Given the description of an element on the screen output the (x, y) to click on. 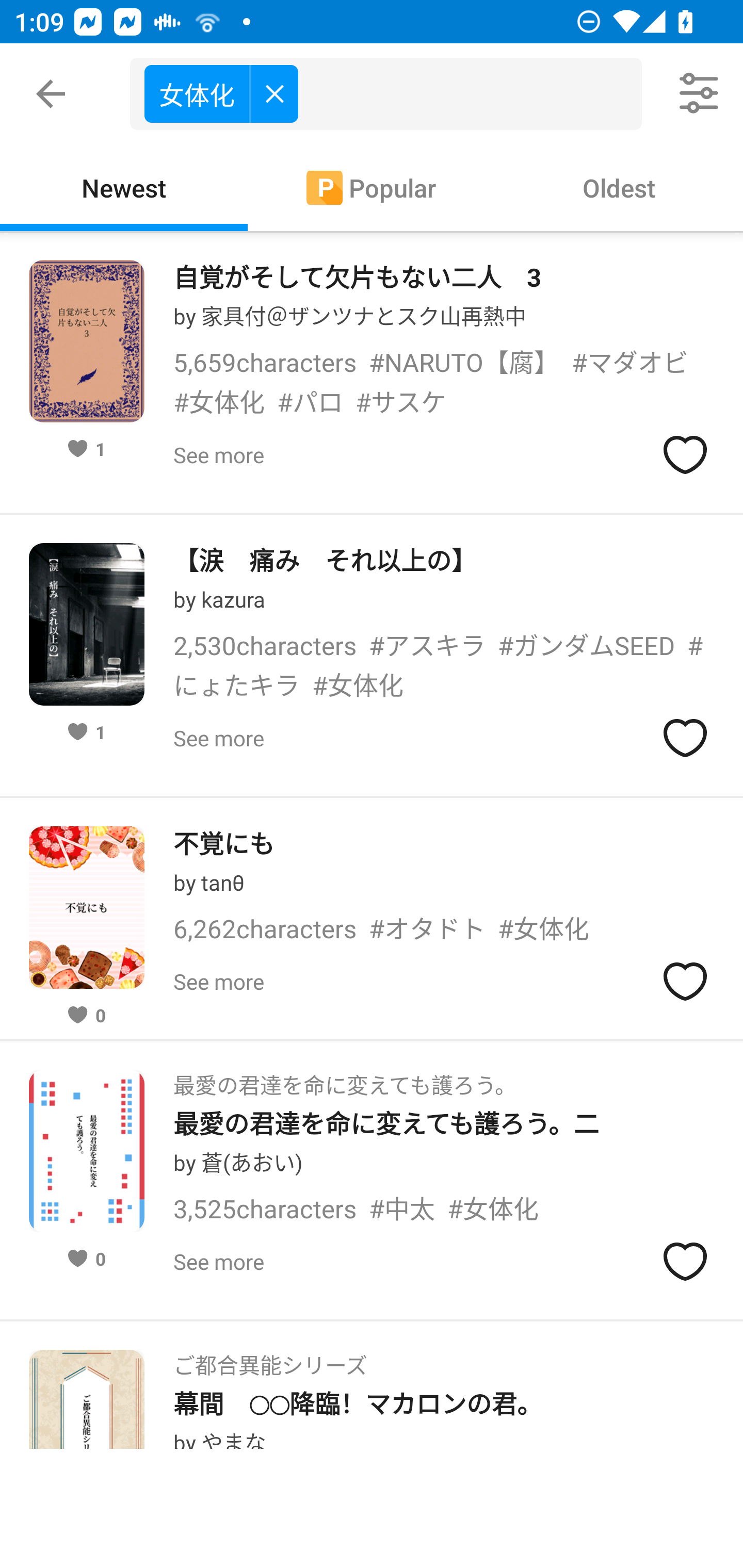
Navigate up (50, 93)
Filters (699, 93)
女体化 (392, 94)
女体化 (220, 93)
[P] Popular (371, 187)
Oldest (619, 187)
最愛の君達を命に変えても護ろう。 (345, 1079)
ご都合異能シリーズ 幕間　◯◯降臨！マカロンの君。 by やまな (371, 1384)
ご都合異能シリーズ (270, 1359)
